Given the description of an element on the screen output the (x, y) to click on. 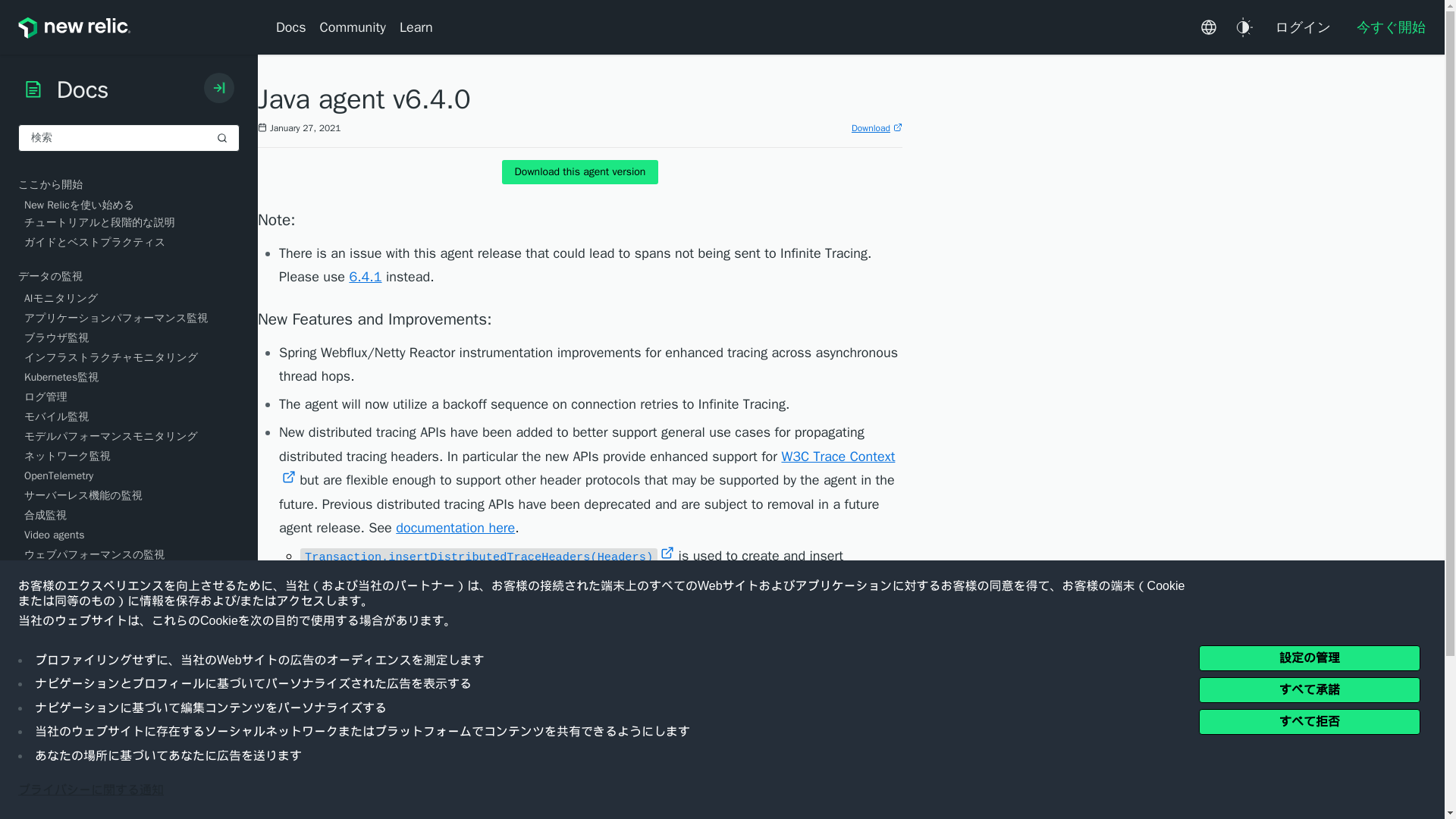
Learn (416, 27)
Community (353, 27)
Docs (294, 27)
